Given the description of an element on the screen output the (x, y) to click on. 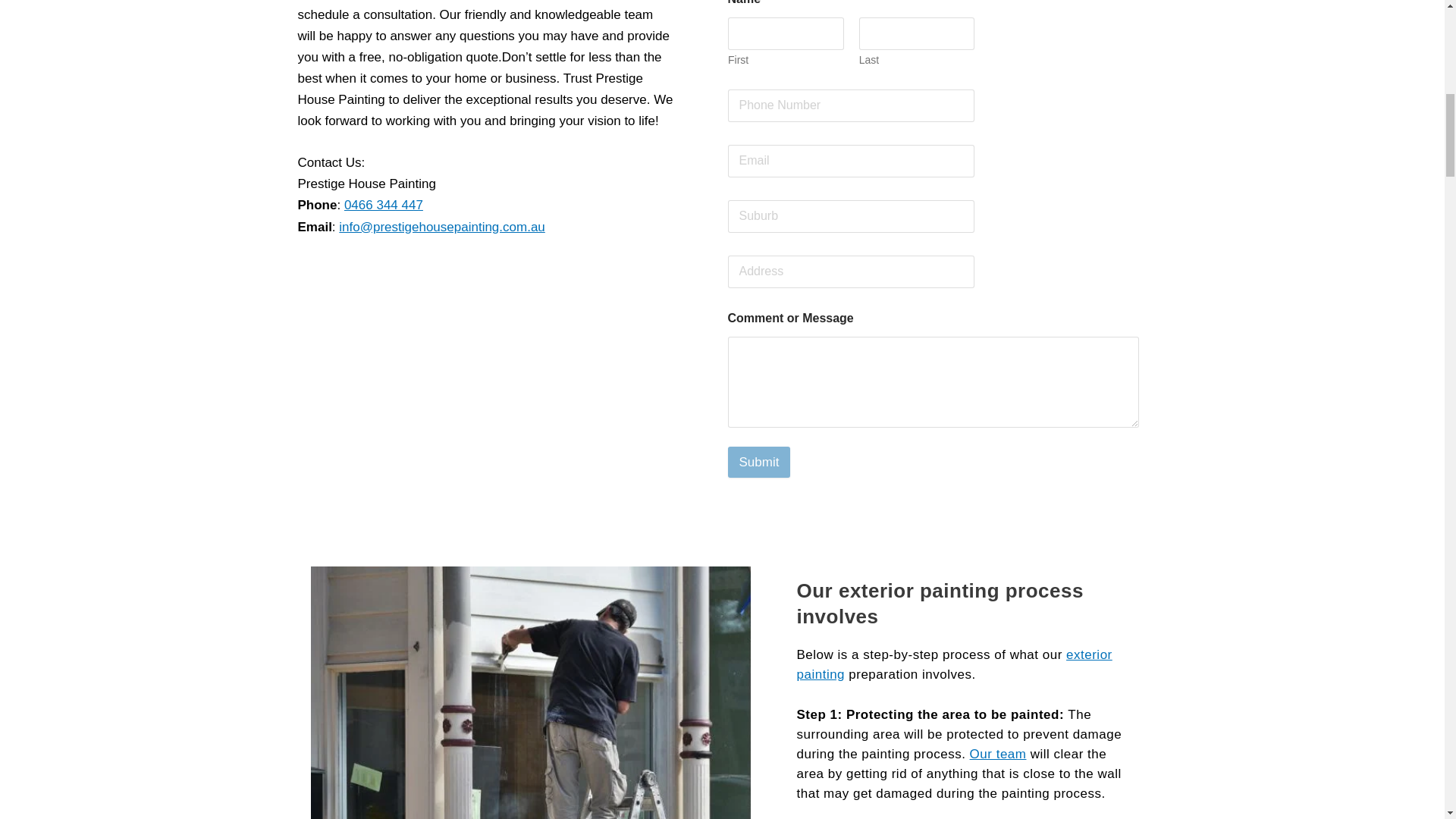
Werribee (485, 387)
